Given the description of an element on the screen output the (x, y) to click on. 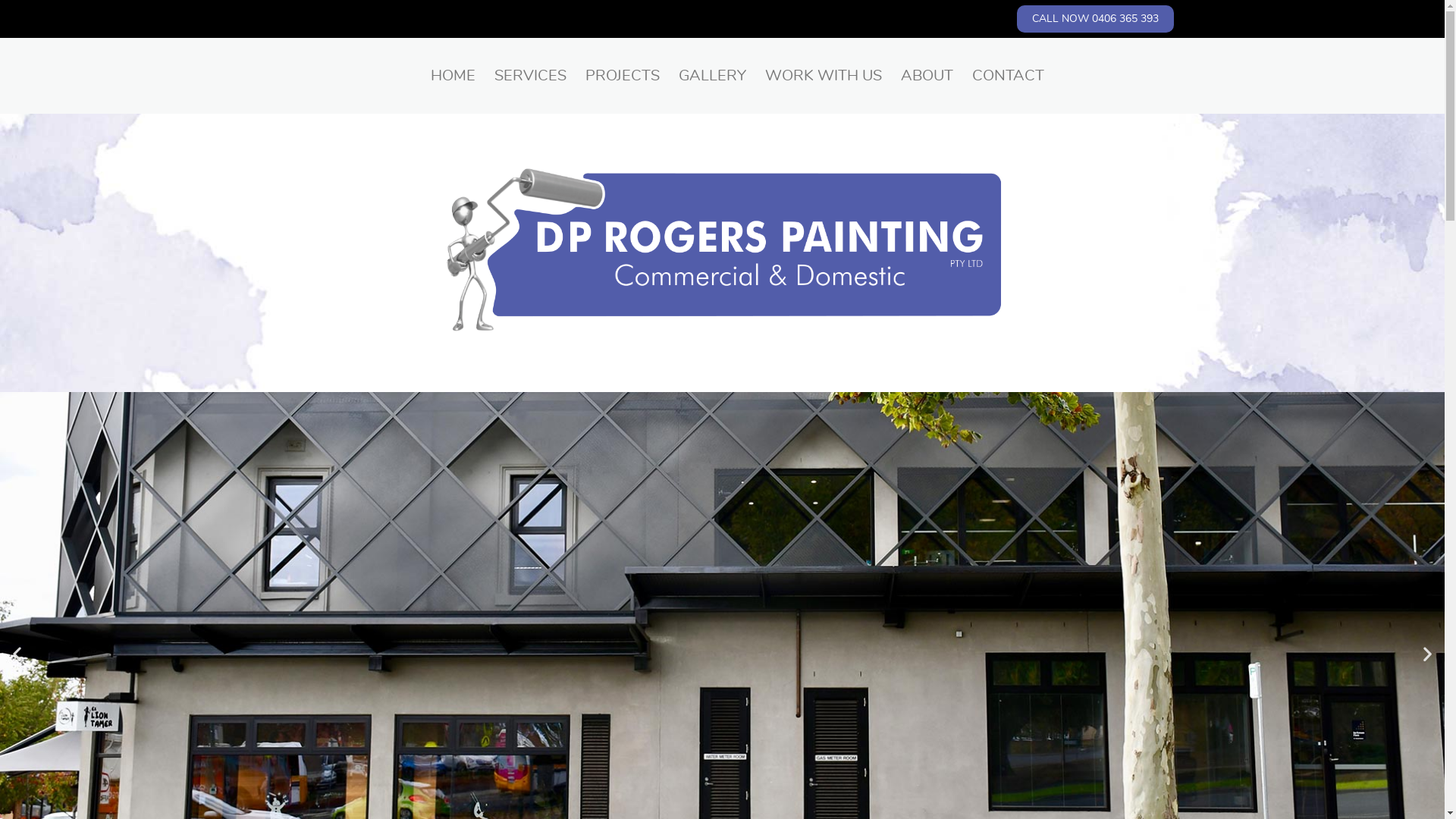
HOME Element type: text (452, 75)
GALLERY Element type: text (712, 75)
ABOUT Element type: text (926, 75)
CALL NOW 0406 365 393 Element type: text (1095, 18)
CONTACT Element type: text (1008, 75)
WORK WITH US Element type: text (823, 75)
PROJECTS Element type: text (622, 75)
SERVICES Element type: text (530, 75)
